Given the description of an element on the screen output the (x, y) to click on. 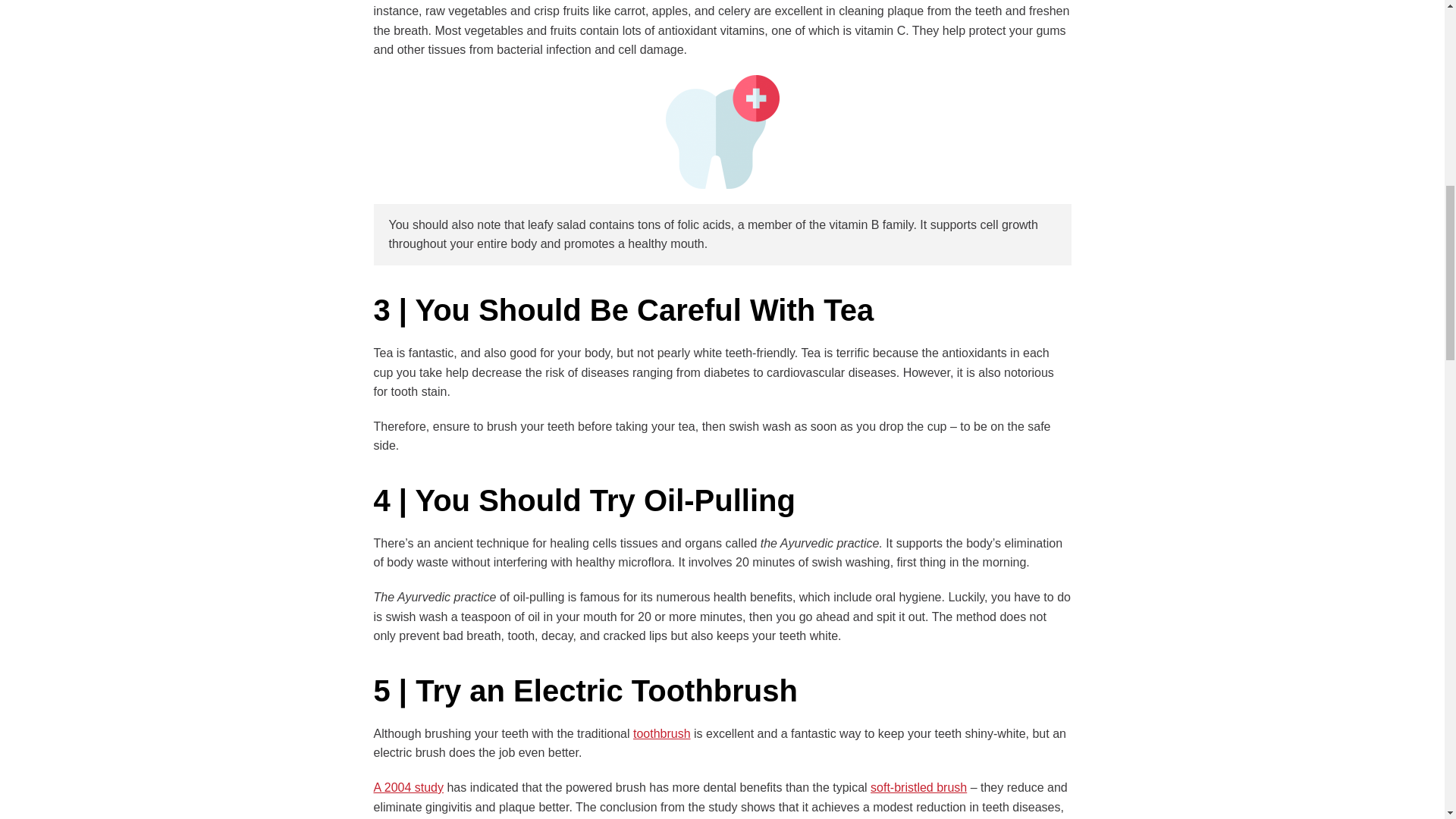
toothbrush (661, 733)
soft-bristled brush (918, 787)
A 2004 study (408, 787)
2184229 (721, 132)
